Given the description of an element on the screen output the (x, y) to click on. 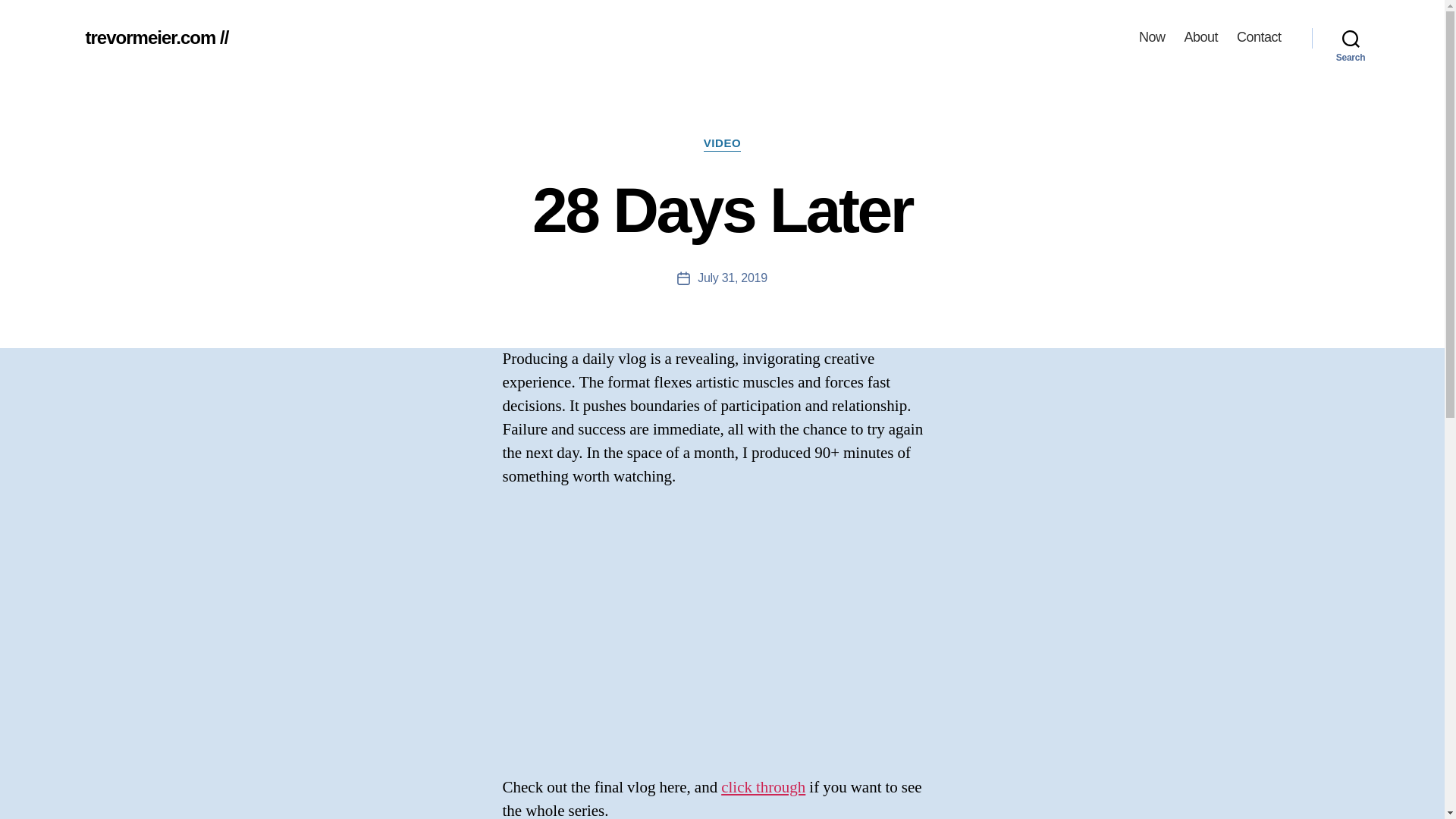
And Many Returns (722, 632)
July 31, 2019 (732, 277)
click through (762, 787)
About (1200, 37)
Contact (1258, 37)
Search (1350, 37)
Now (1152, 37)
VIDEO (722, 143)
